Given the description of an element on the screen output the (x, y) to click on. 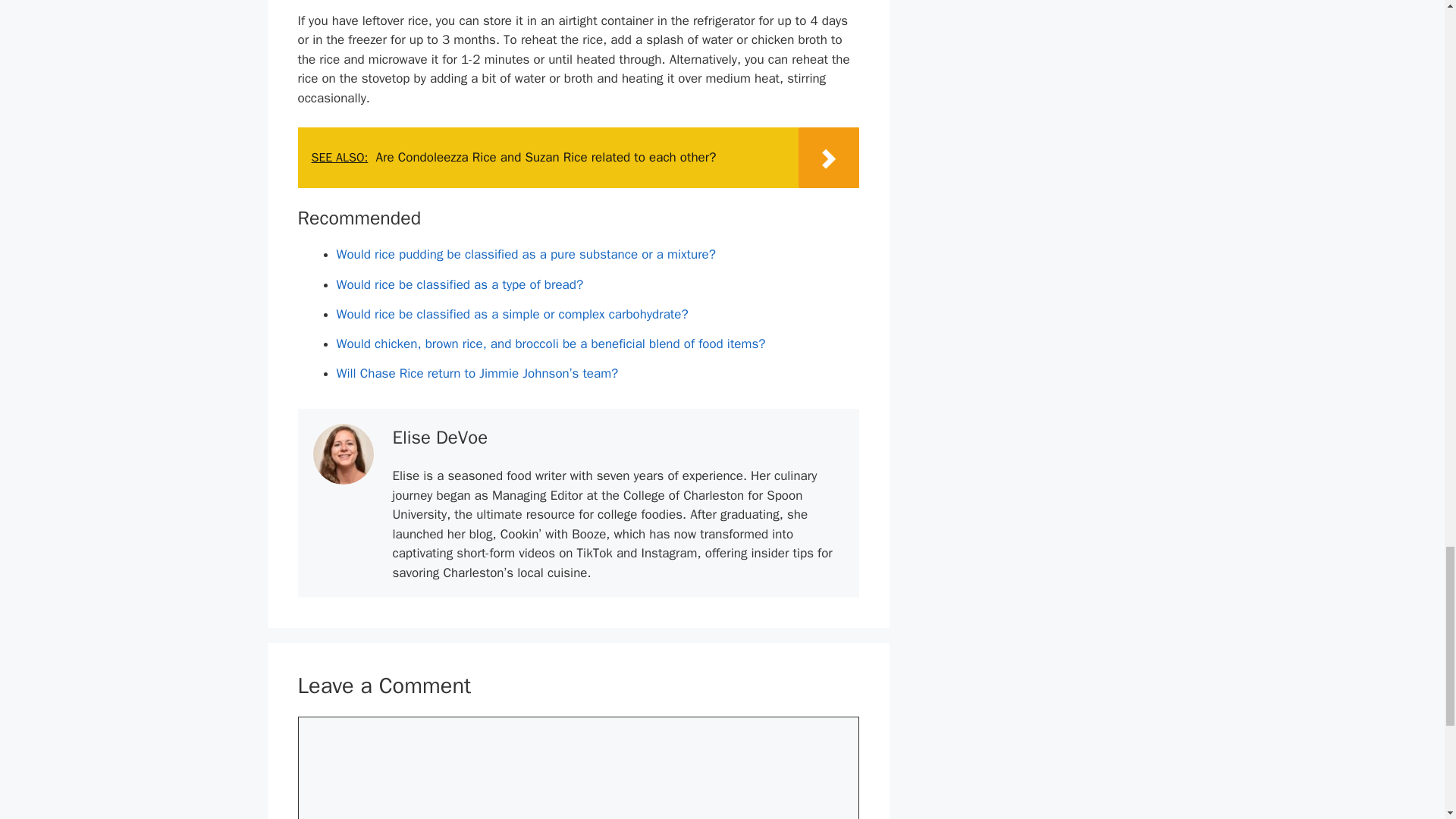
Would rice be classified as a type of bread? (459, 284)
Elise DeVoe (440, 436)
